Given the description of an element on the screen output the (x, y) to click on. 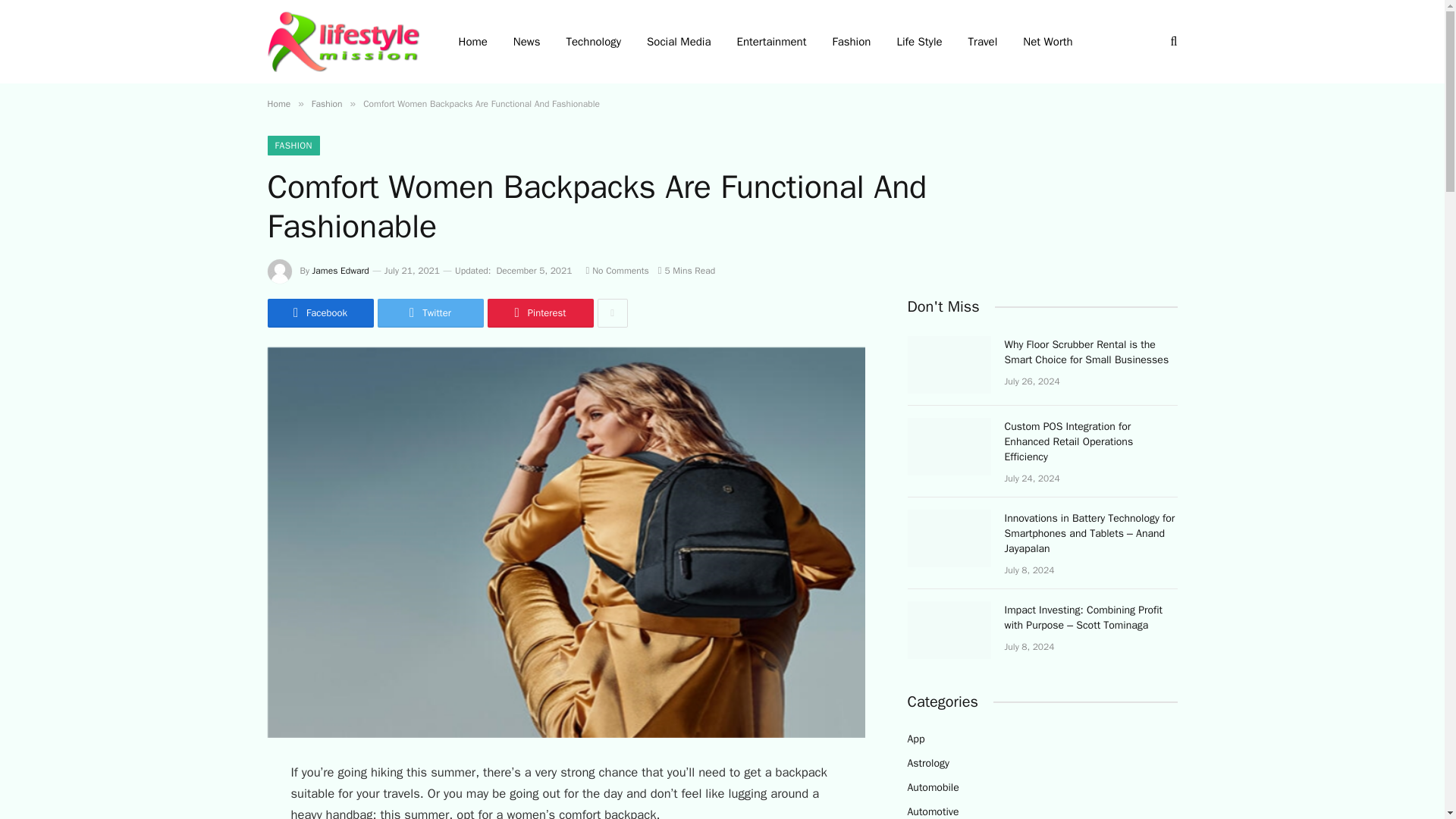
Share on Pinterest (539, 312)
Social Media (678, 41)
Fashion (326, 103)
Net Worth (1047, 41)
James Edward (341, 270)
Lifestylemission (342, 41)
Entertainment (770, 41)
Posts by James Edward (341, 270)
Home (277, 103)
